Given the description of an element on the screen output the (x, y) to click on. 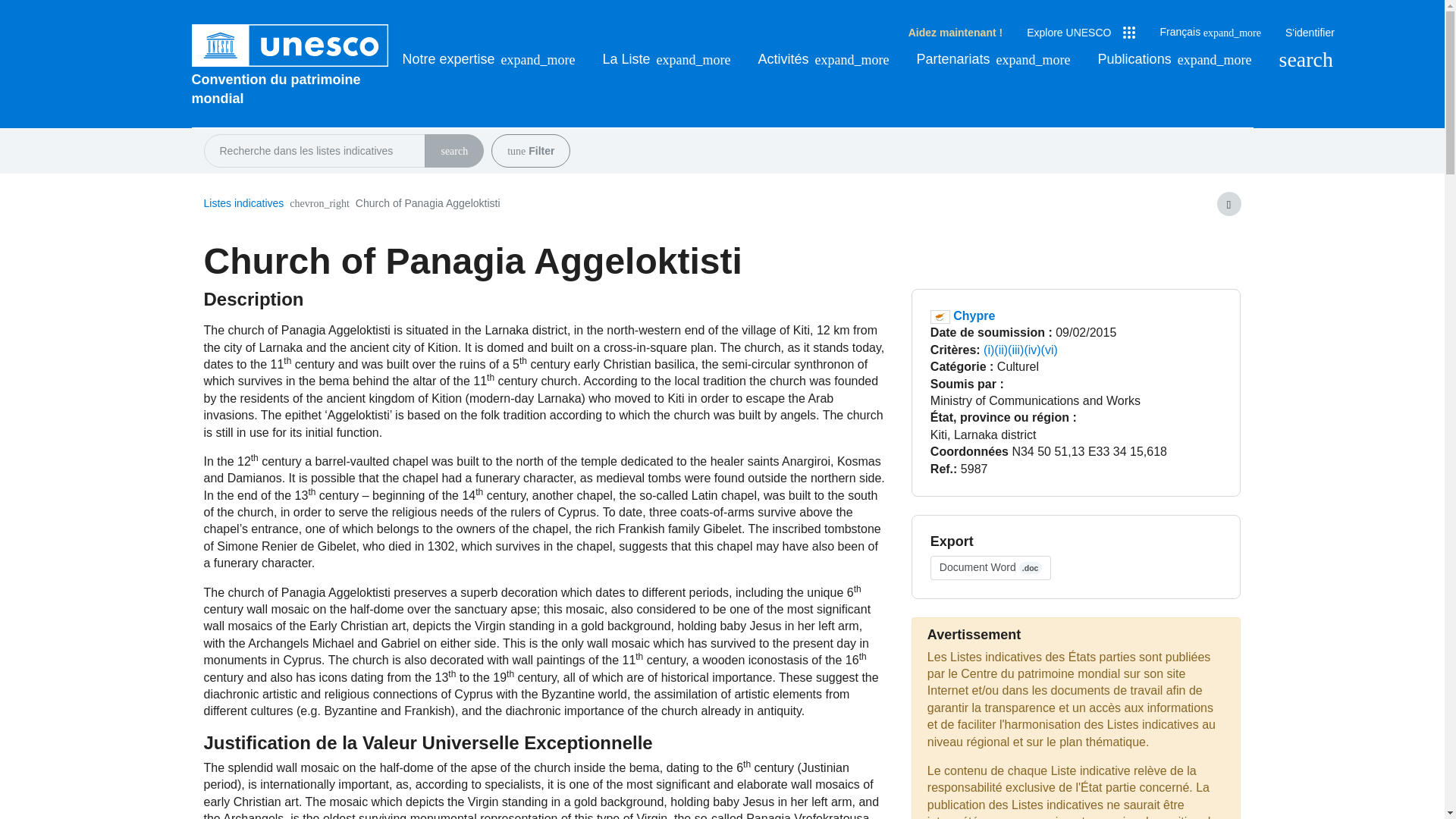
Rechercher (454, 151)
Aidez maintenant ! (955, 32)
Notre expertise (488, 58)
Explore UNESCO (1080, 32)
Filter votre recherche (515, 151)
Convention du patrimoine mondial (289, 89)
Rechercher (1306, 59)
S'identifier (1310, 32)
La Liste (666, 58)
